Given the description of an element on the screen output the (x, y) to click on. 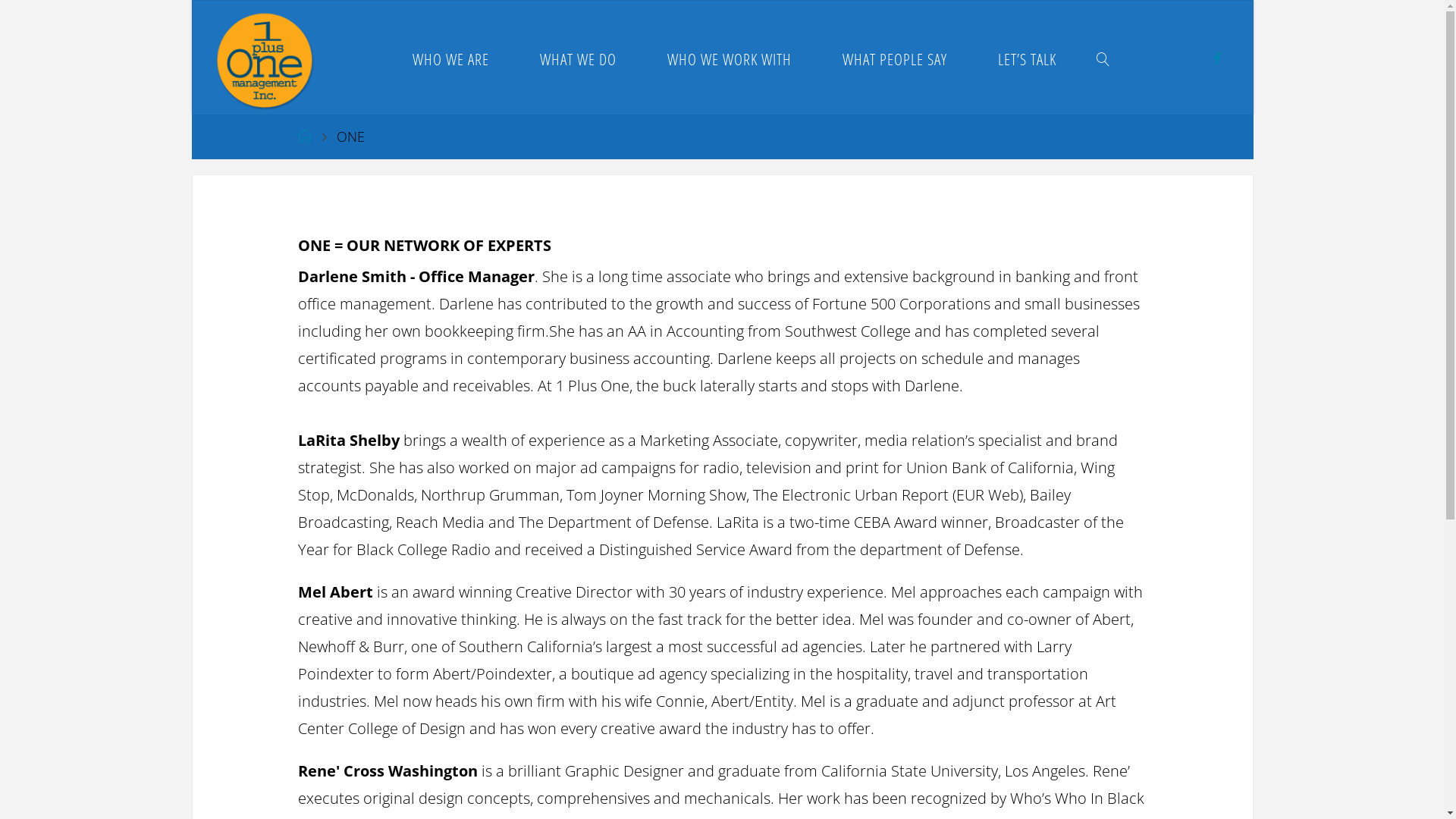
1 Plus One Management Element type: hover (264, 57)
Home Element type: hover (303, 136)
Facebook Element type: hover (1217, 57)
WHAT PEOPLE SAY Element type: text (894, 57)
WHO WE ARE Element type: text (450, 57)
WHAT WE DO Element type: text (577, 57)
WHO WE WORK WITH Element type: text (728, 57)
